Given the description of an element on the screen output the (x, y) to click on. 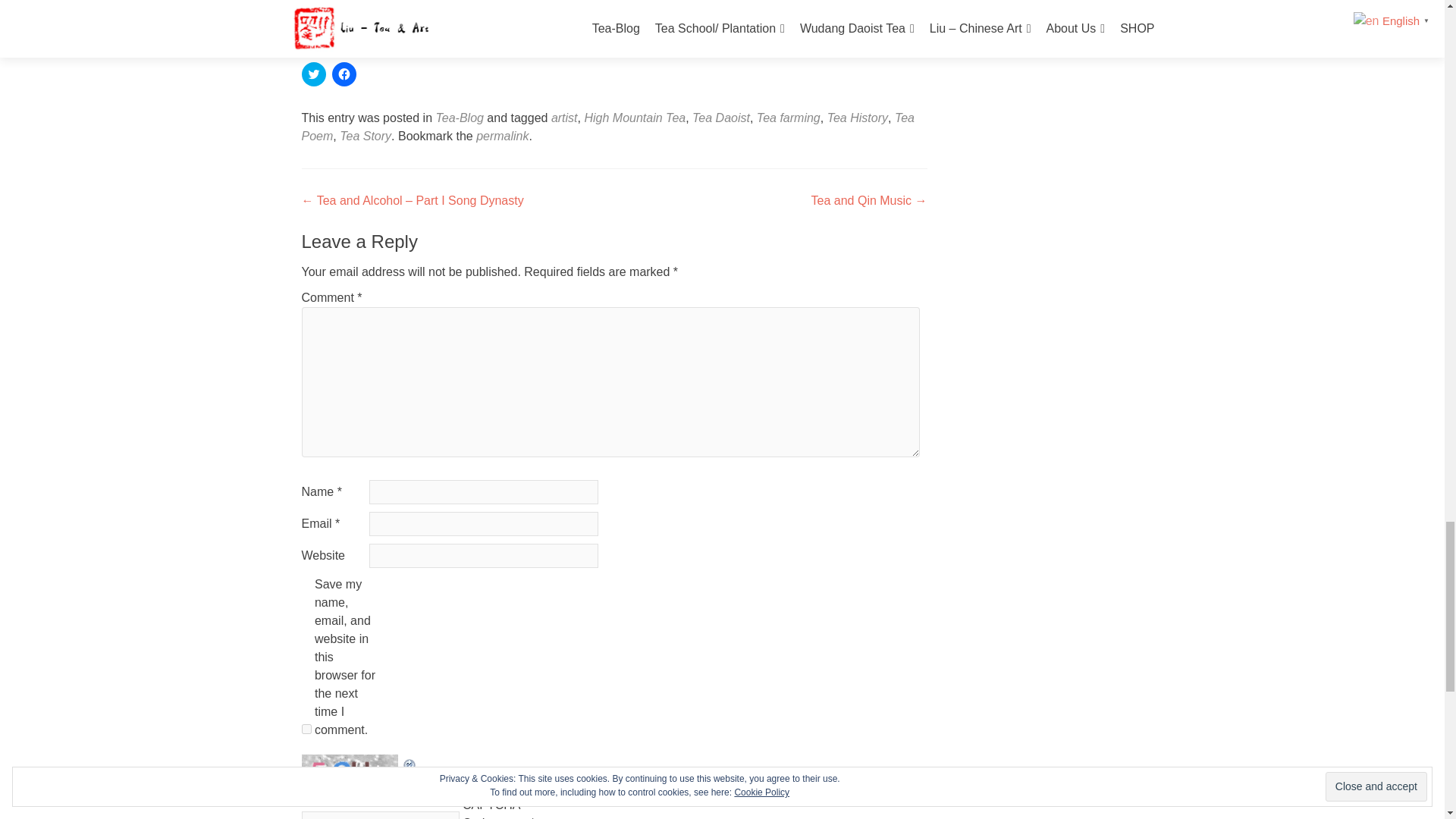
Click to share on Twitter (313, 74)
Refresh (410, 762)
Tea Daoist (721, 117)
yes (306, 728)
Tea farming (789, 117)
Click to share on Facebook (343, 74)
Tea Story (365, 135)
Tea Poem (607, 126)
artist (564, 117)
High Mountain Tea (634, 117)
